Given the description of an element on the screen output the (x, y) to click on. 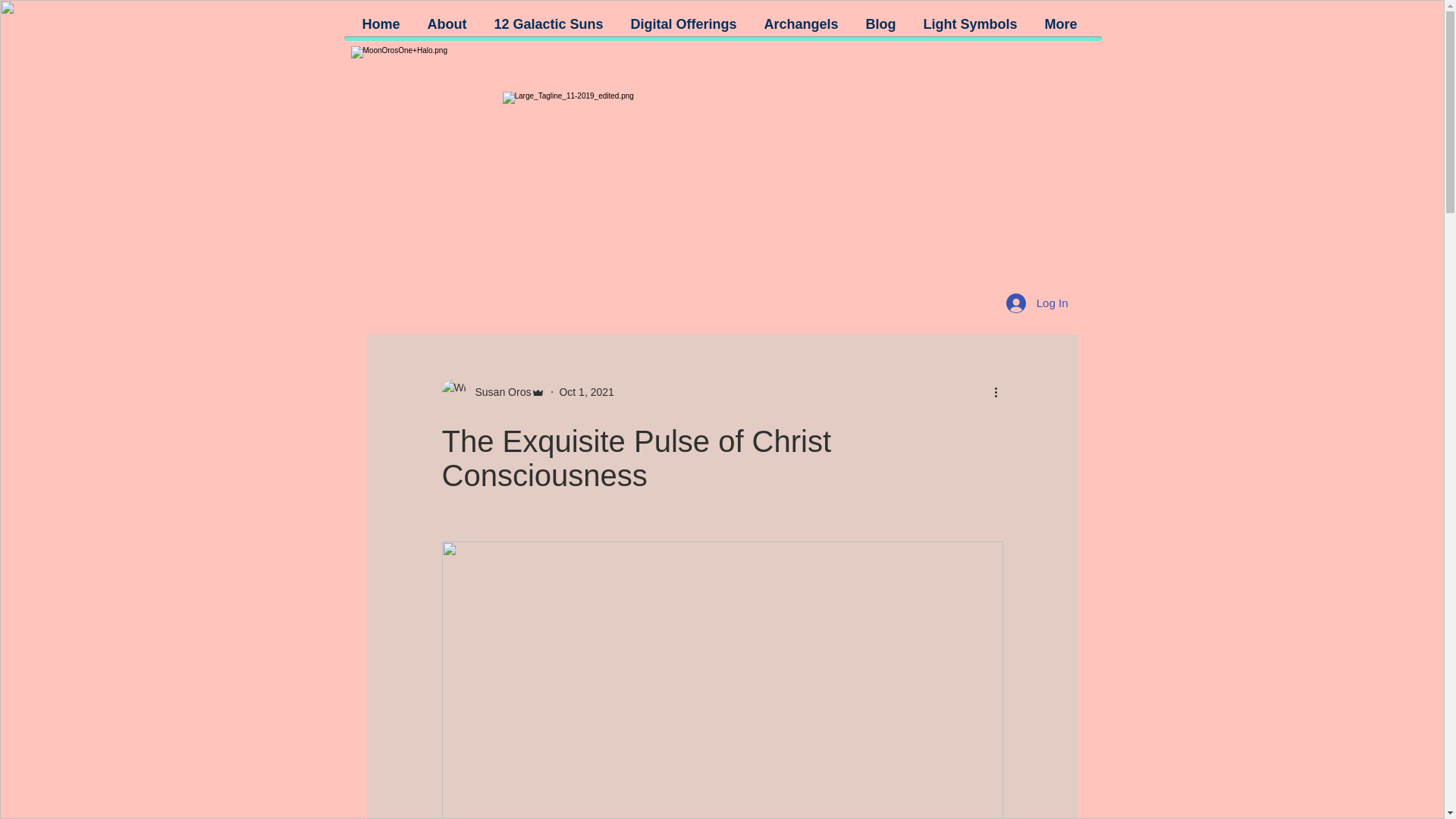
Susan Oros (498, 391)
Log In (1036, 302)
About (447, 24)
Oct 1, 2021 (585, 390)
Archangels (802, 24)
Light Symbols (971, 24)
12 Galactic Suns (549, 24)
Susan Oros (492, 392)
Home (382, 24)
Blog (882, 24)
